Given the description of an element on the screen output the (x, y) to click on. 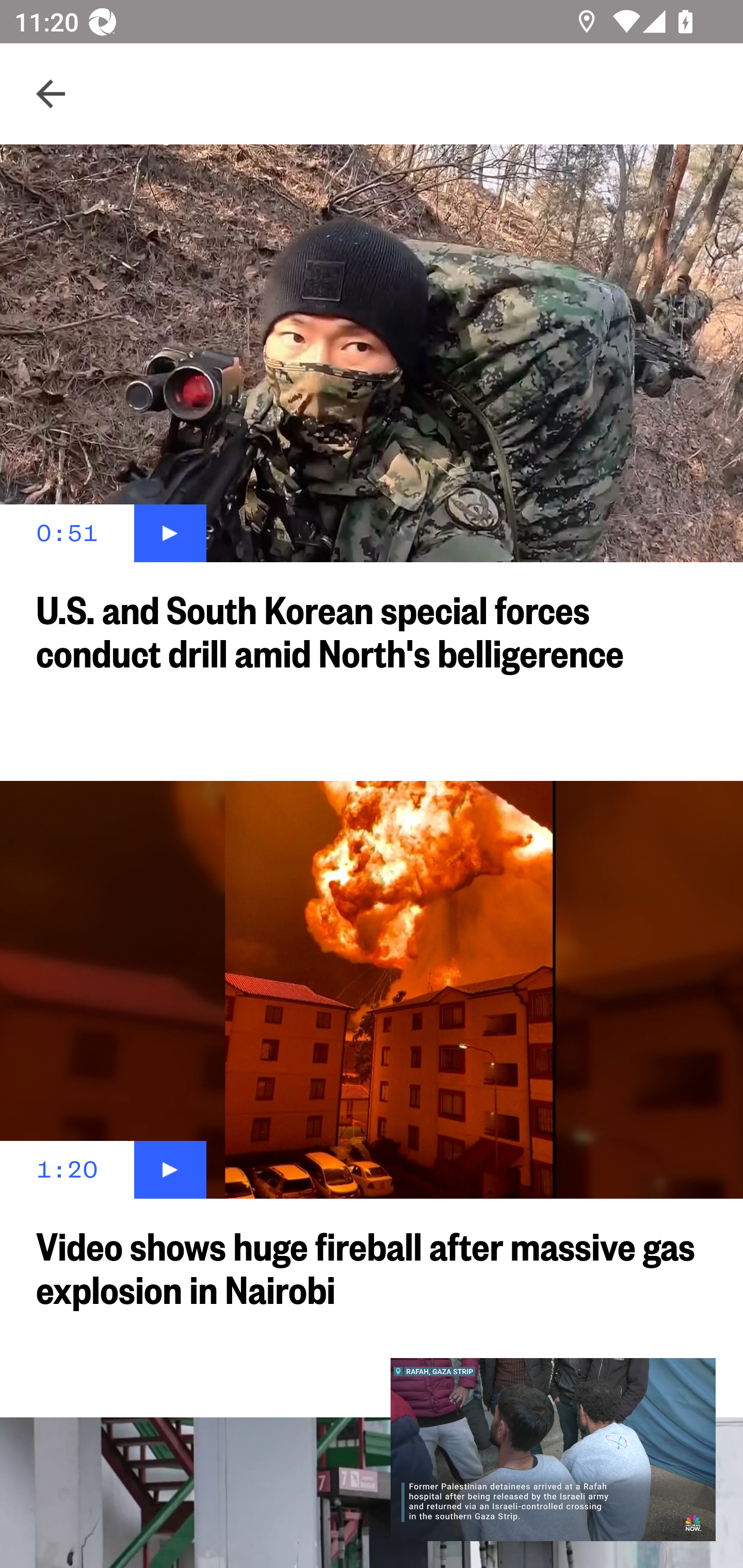
Navigate up (50, 93)
